Given the description of an element on the screen output the (x, y) to click on. 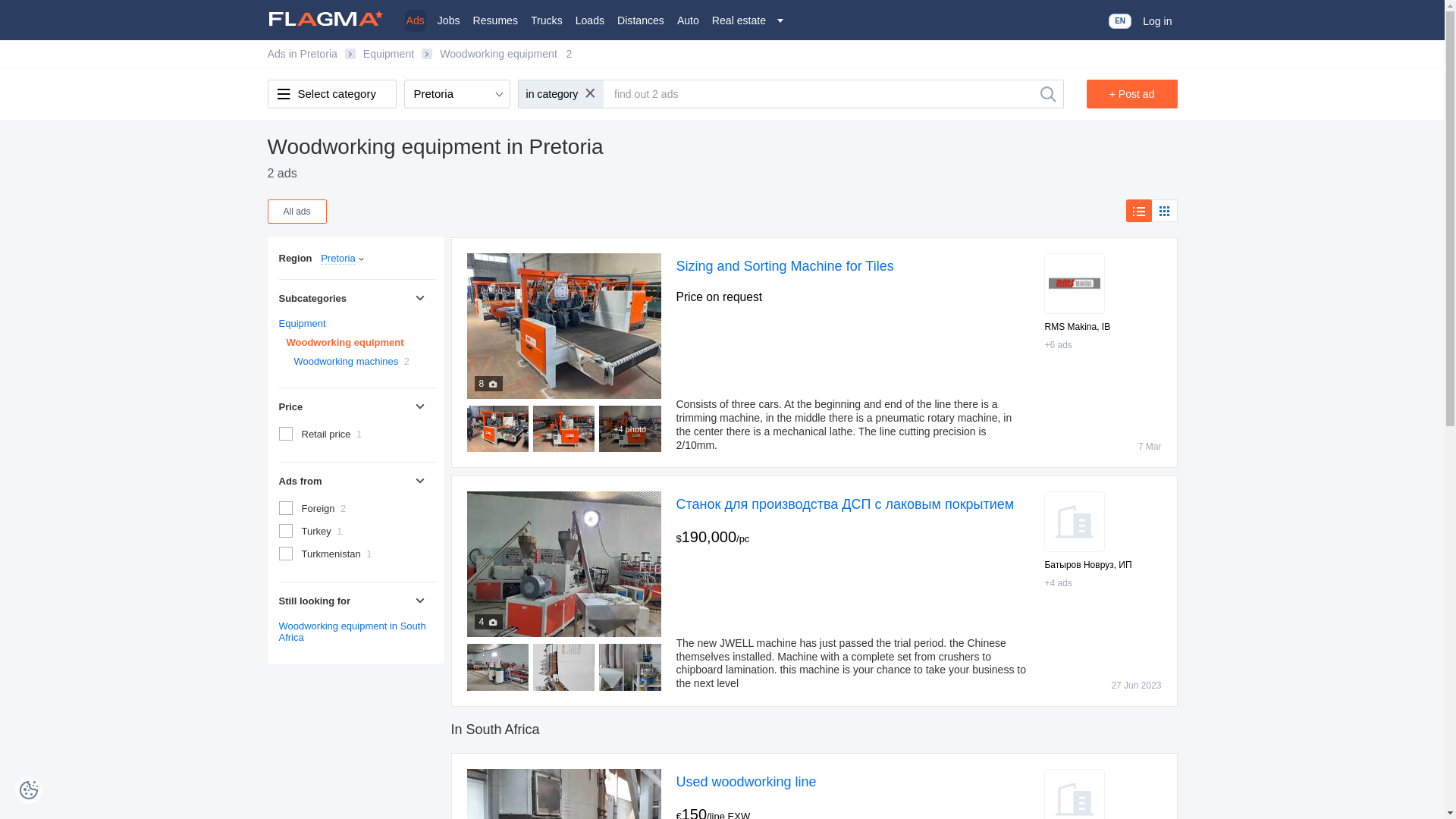
Flagma  (328, 18)
Loads (589, 20)
List (1138, 210)
Ads in Pretoria (301, 53)
Ads (415, 20)
Real estate (738, 20)
Woodworking equipment in South Africa (352, 630)
Log in (1157, 21)
Advertisement (354, 752)
Jobs (448, 20)
Flagma (328, 18)
Auto (687, 20)
Distances (640, 20)
Equipment (302, 323)
Resumes (495, 20)
